Given the description of an element on the screen output the (x, y) to click on. 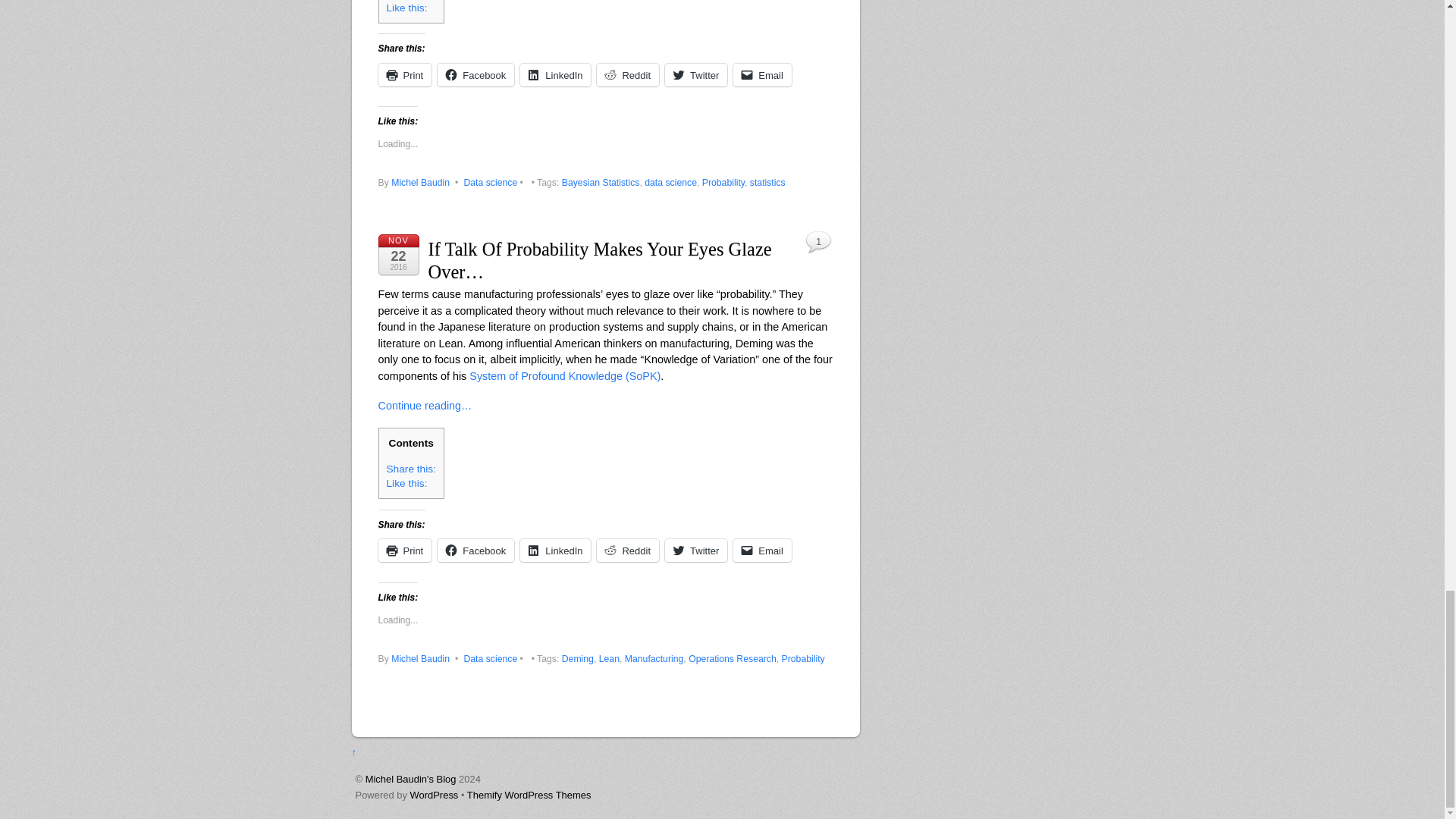
Click to email a link to a friend (762, 74)
Click to print (403, 549)
Click to share on Twitter (695, 74)
Click to share on LinkedIn (555, 549)
Click to print (403, 74)
Click to share on Facebook (475, 74)
Click to share on LinkedIn (555, 74)
Click to share on Facebook (475, 549)
Click to share on Reddit (627, 74)
